Given the description of an element on the screen output the (x, y) to click on. 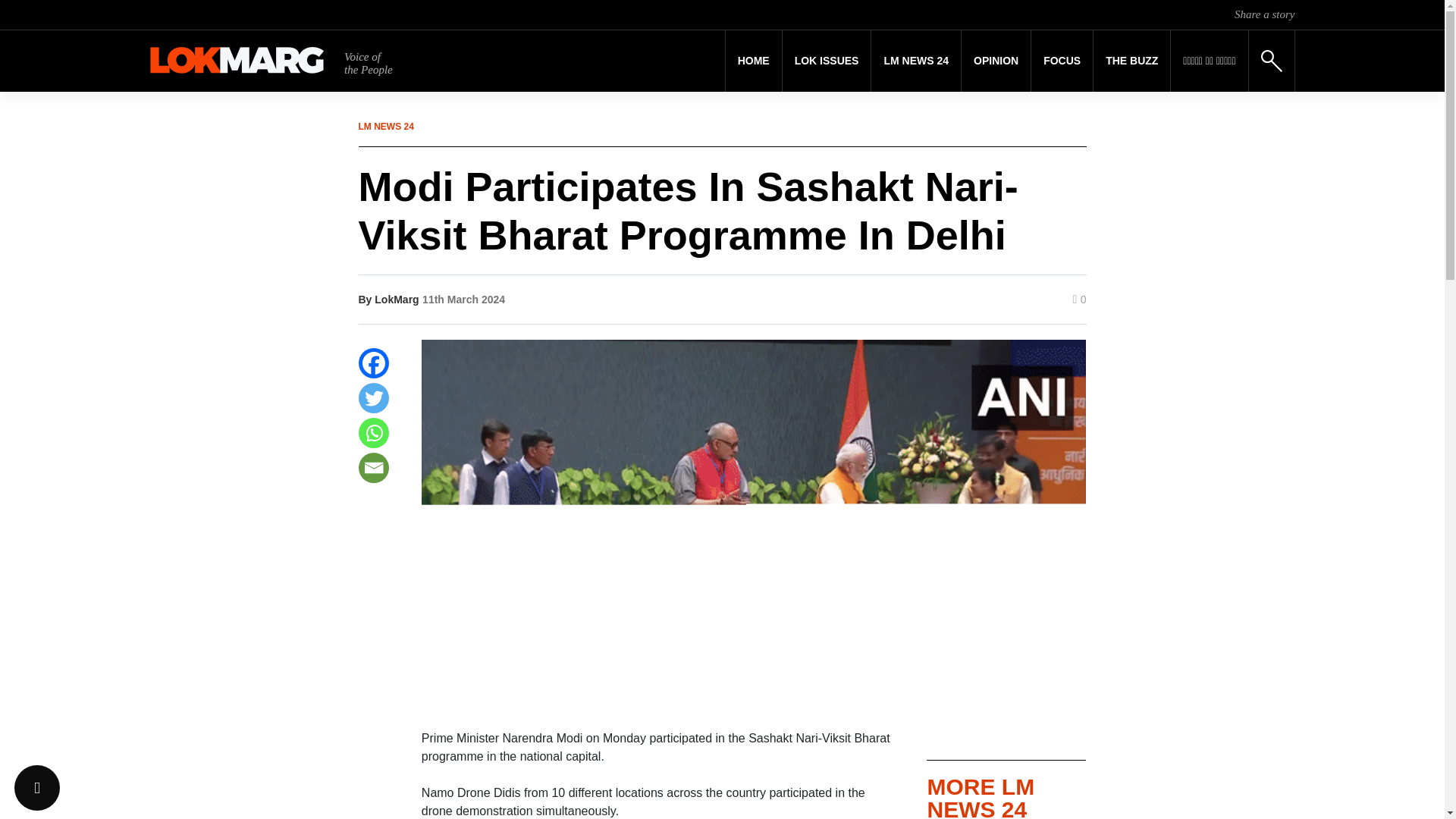
LM News 24 (915, 60)
Home (753, 60)
Whatsapp (373, 432)
LM NEWS 24 (915, 60)
Opinion (995, 60)
OPINION (995, 60)
Focus (1061, 60)
Lok Issues (826, 60)
Share a story (1264, 14)
Facebook (373, 363)
Twitter (373, 398)
THE BUZZ (1131, 60)
LOK ISSUES (826, 60)
LokMarg (396, 299)
HOME (753, 60)
